Given the description of an element on the screen output the (x, y) to click on. 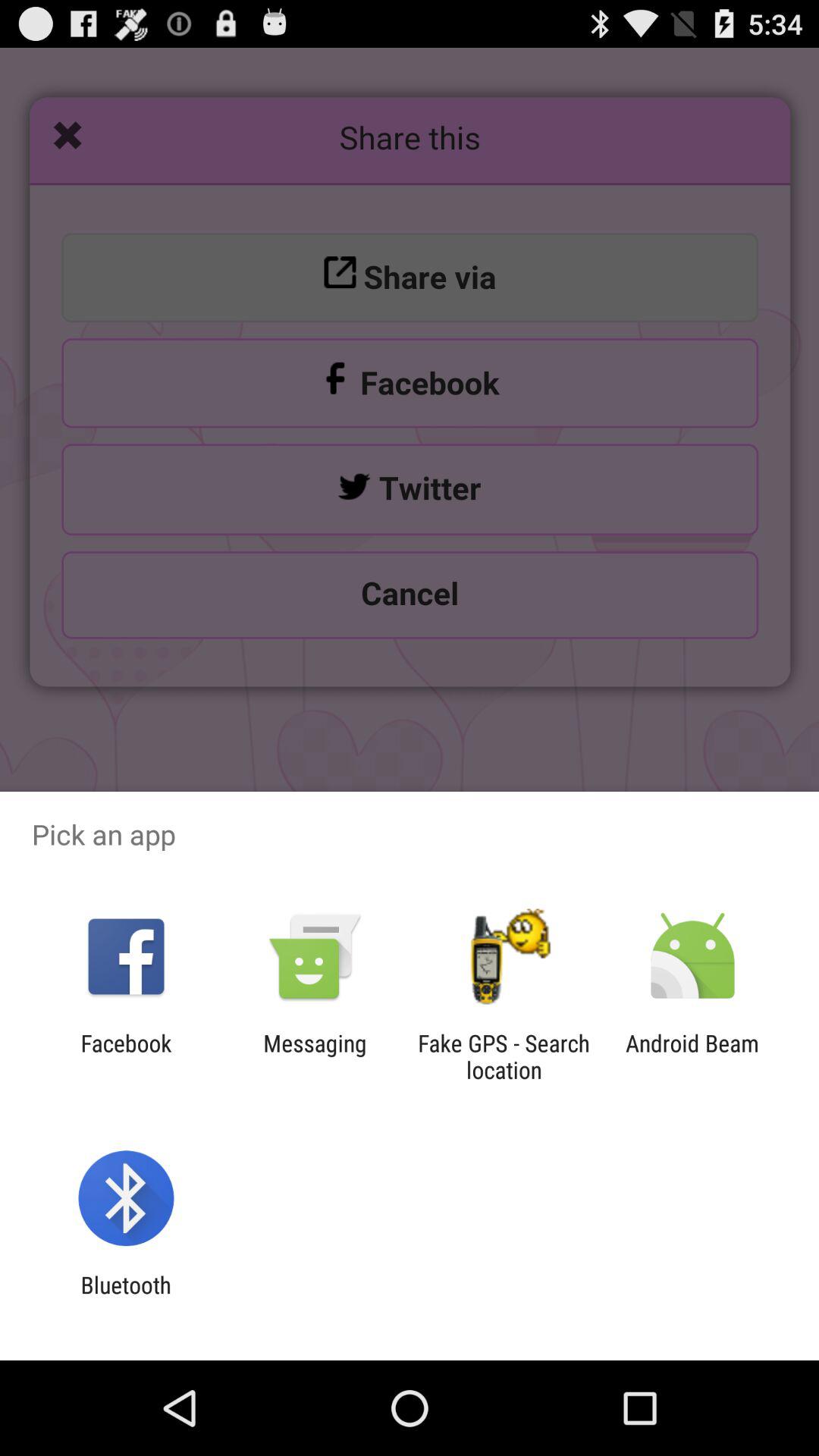
turn off item next to the facebook app (314, 1056)
